Given the description of an element on the screen output the (x, y) to click on. 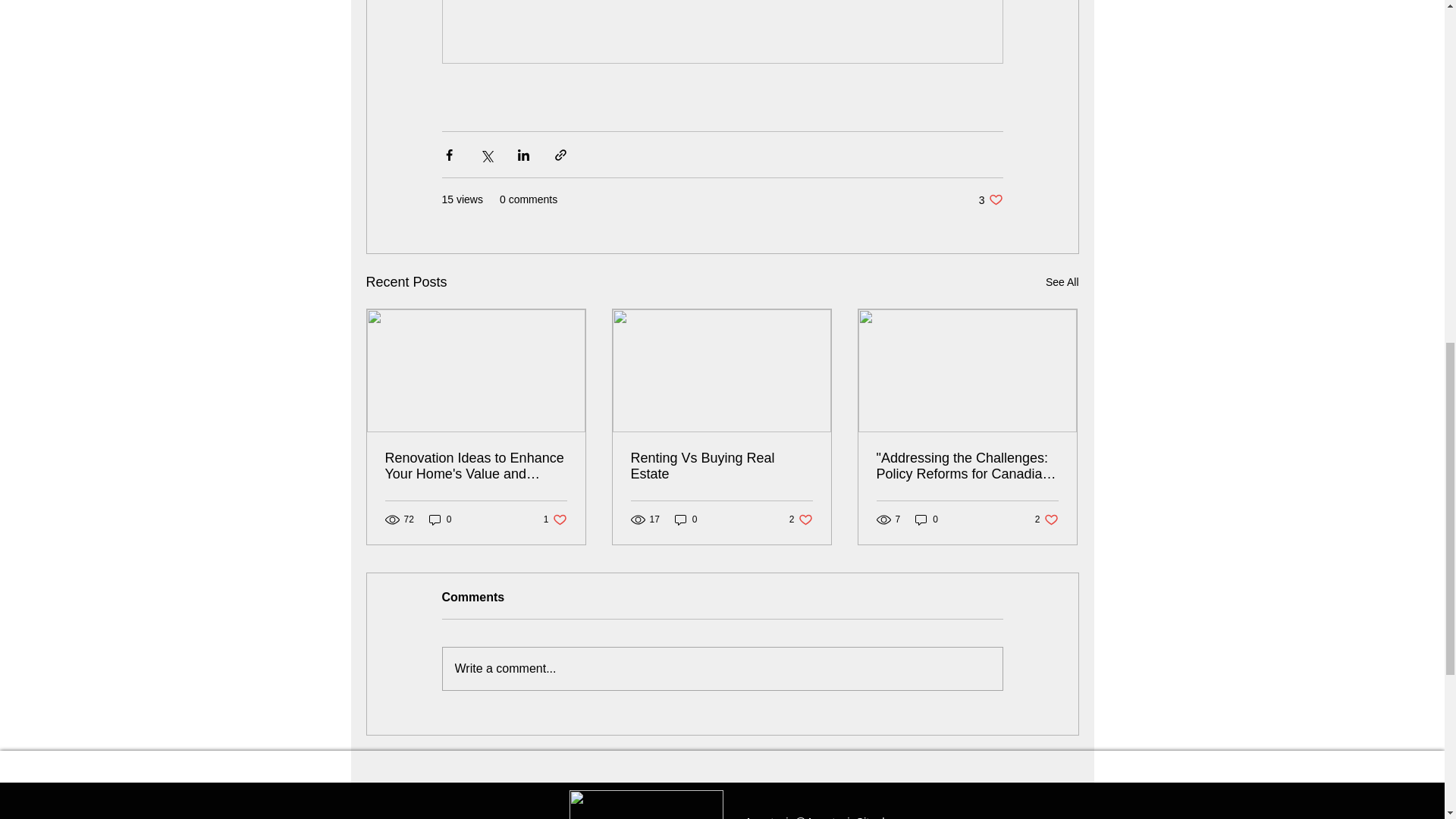
0 (440, 519)
0 (800, 519)
See All (926, 519)
Renting Vs Buying Real Estate (1061, 282)
0 (990, 199)
2 copy 2.png (721, 466)
Write a comment... (1046, 519)
Renovation Ideas to Enhance Your Home's Value and Comfort (555, 519)
